Given the description of an element on the screen output the (x, y) to click on. 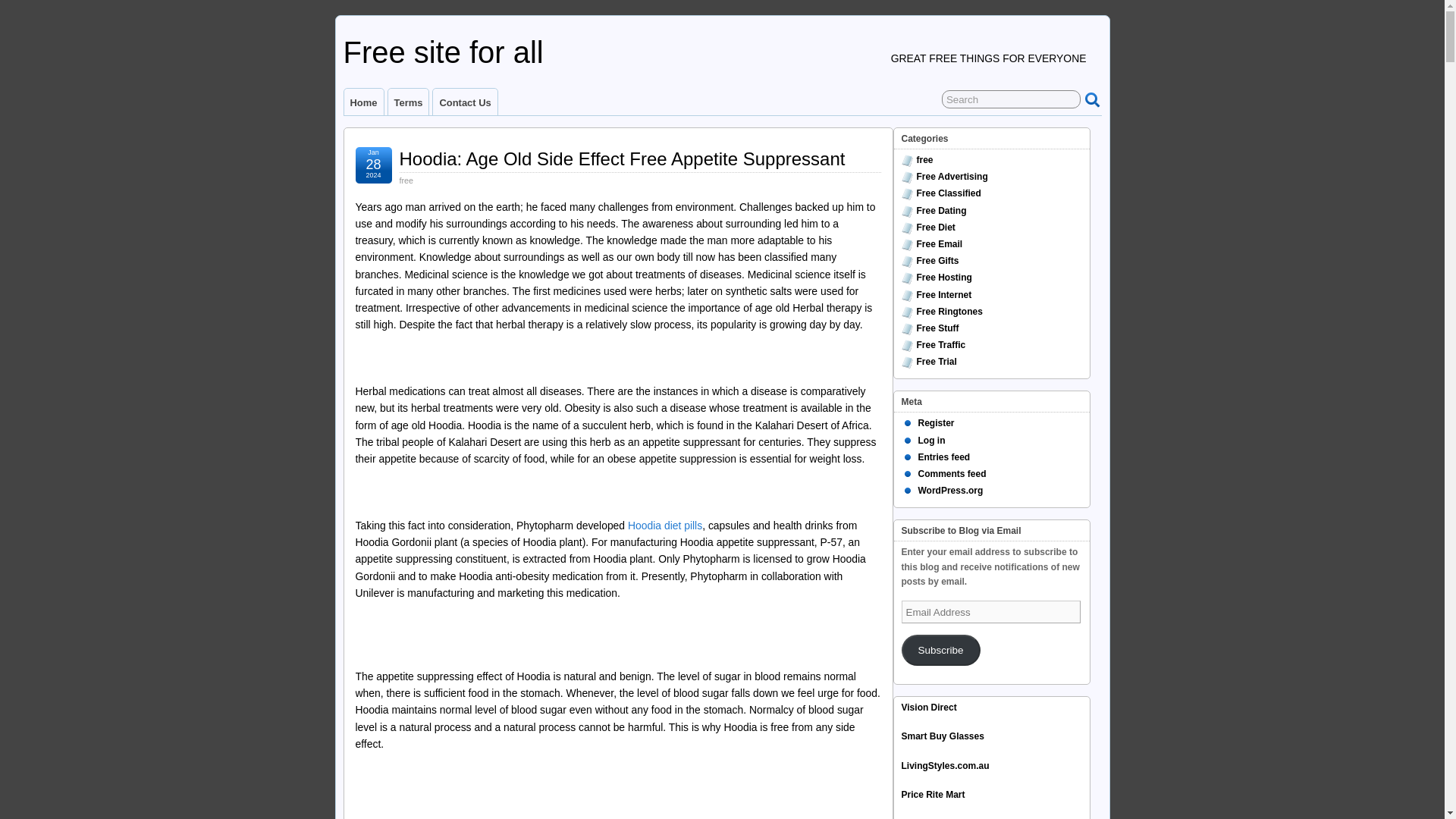
Register (935, 422)
free (924, 159)
LivingStyles.com.au (944, 765)
free (405, 180)
Contact Us (464, 101)
Free site for all (442, 52)
Vision Direct (928, 706)
Free Traffic (940, 344)
Free Advertising (951, 176)
Search (1011, 99)
